Given the description of an element on the screen output the (x, y) to click on. 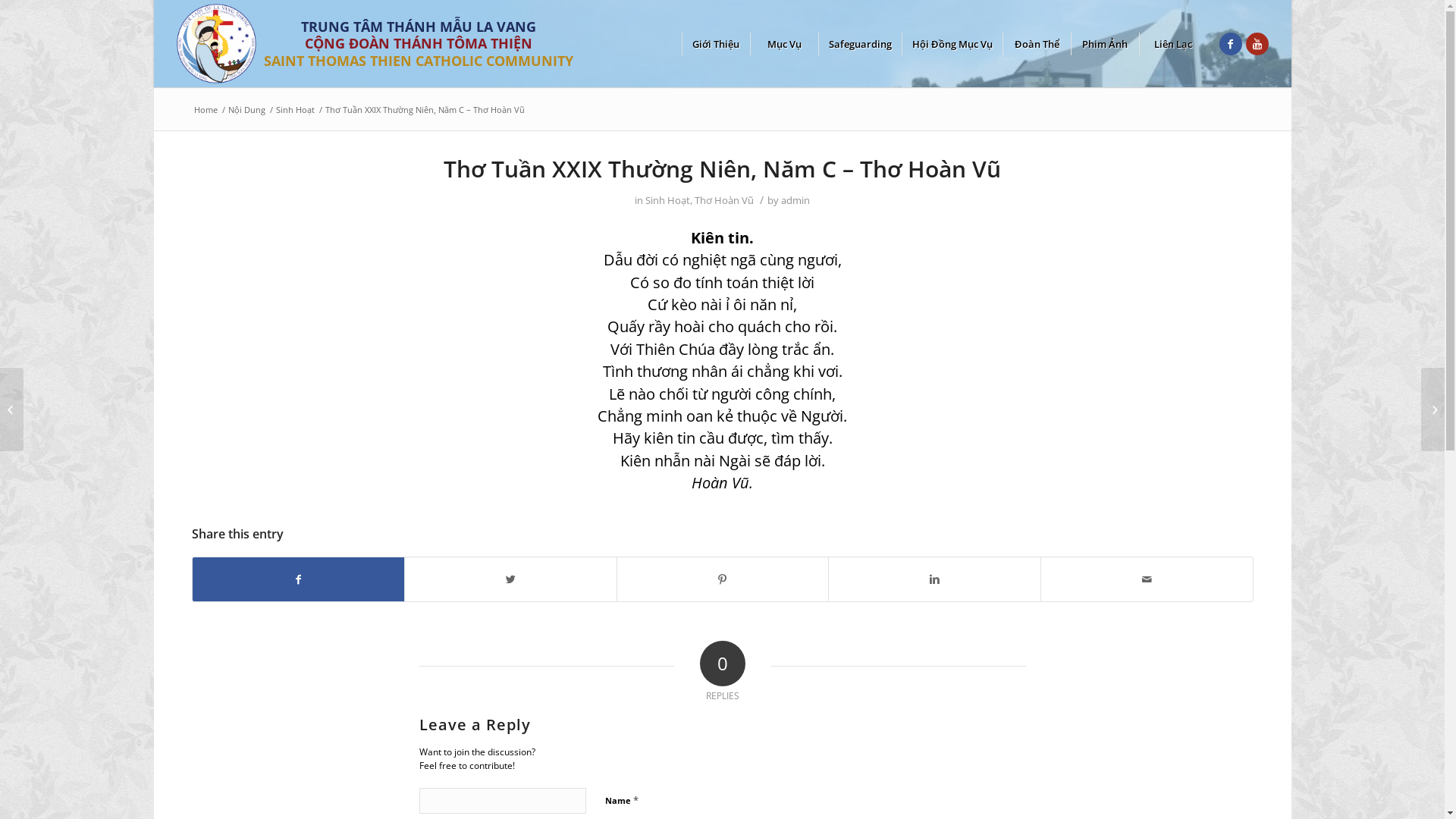
admin Element type: text (795, 200)
Home Element type: text (205, 109)
Facebook Element type: hover (1230, 42)
Youtube Element type: hover (1256, 42)
Safeguarding Element type: text (858, 42)
